Given the description of an element on the screen output the (x, y) to click on. 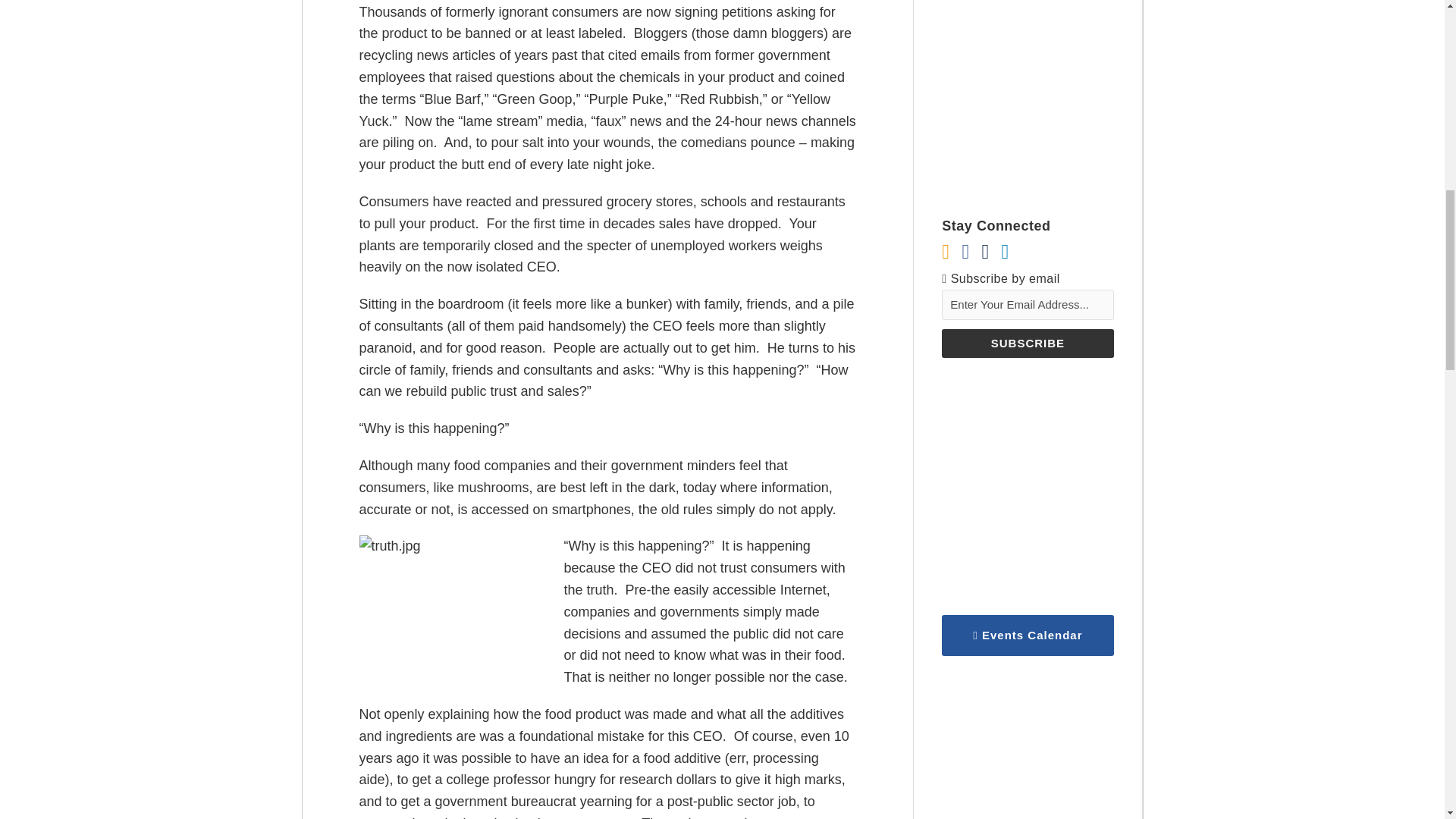
Events Calendar (1027, 635)
Subscribe (1027, 343)
Subscribe (1027, 343)
